Given the description of an element on the screen output the (x, y) to click on. 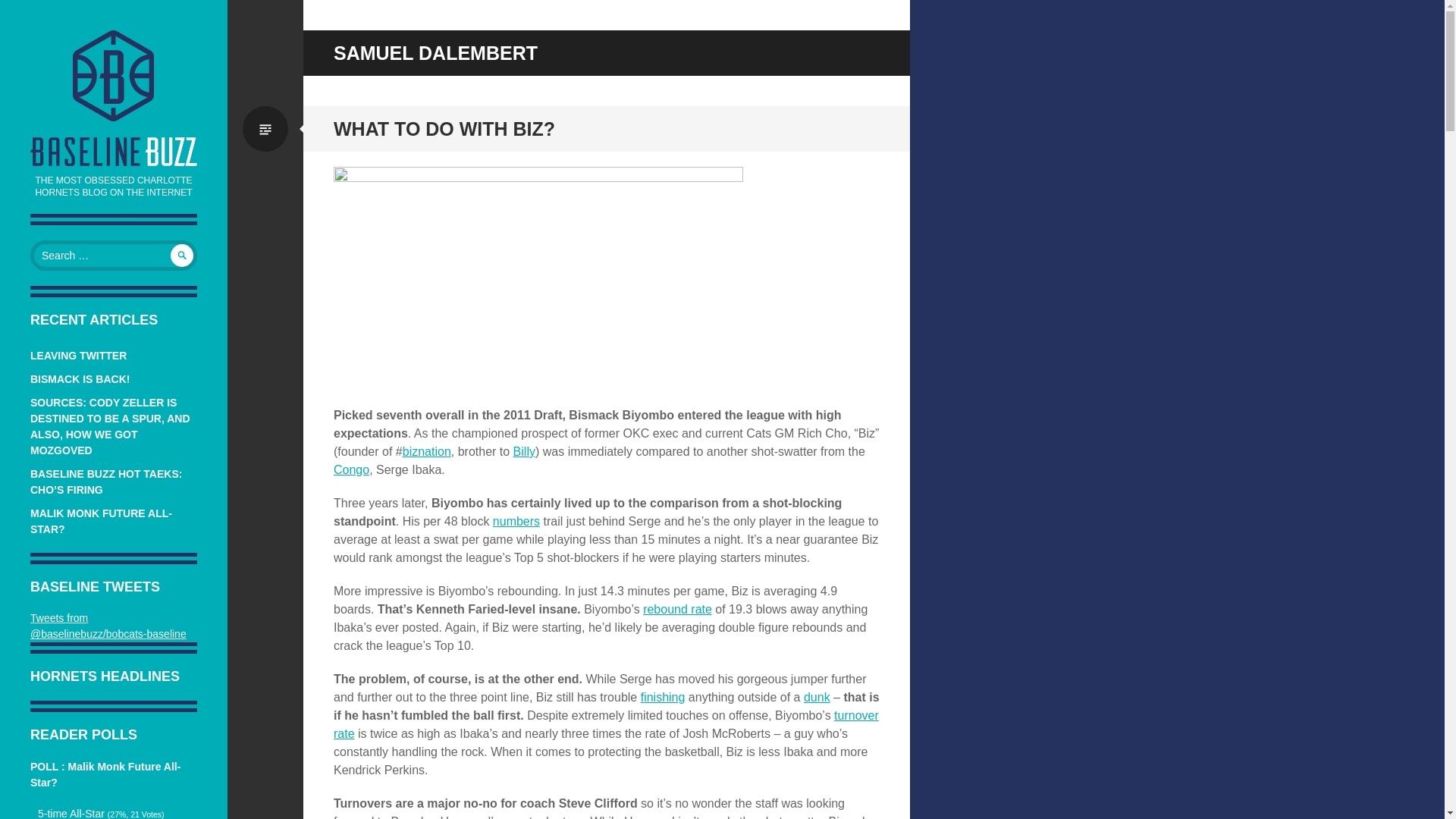
dunk (816, 697)
WHAT TO DO WITH BIZ? (443, 128)
rebound rate (677, 608)
finishing (662, 697)
Hollinger Stats: Rebound Rate (677, 608)
BASELINE BUZZ (113, 75)
biznation (427, 451)
MALIK MONK FUTURE ALL-STAR? (100, 520)
LEAVING TWITTER (78, 355)
That's our Biz! (427, 451)
BISMACK IS BACK! (79, 378)
turnover rate (606, 724)
Search for: (113, 255)
numbers (516, 521)
